Given the description of an element on the screen output the (x, y) to click on. 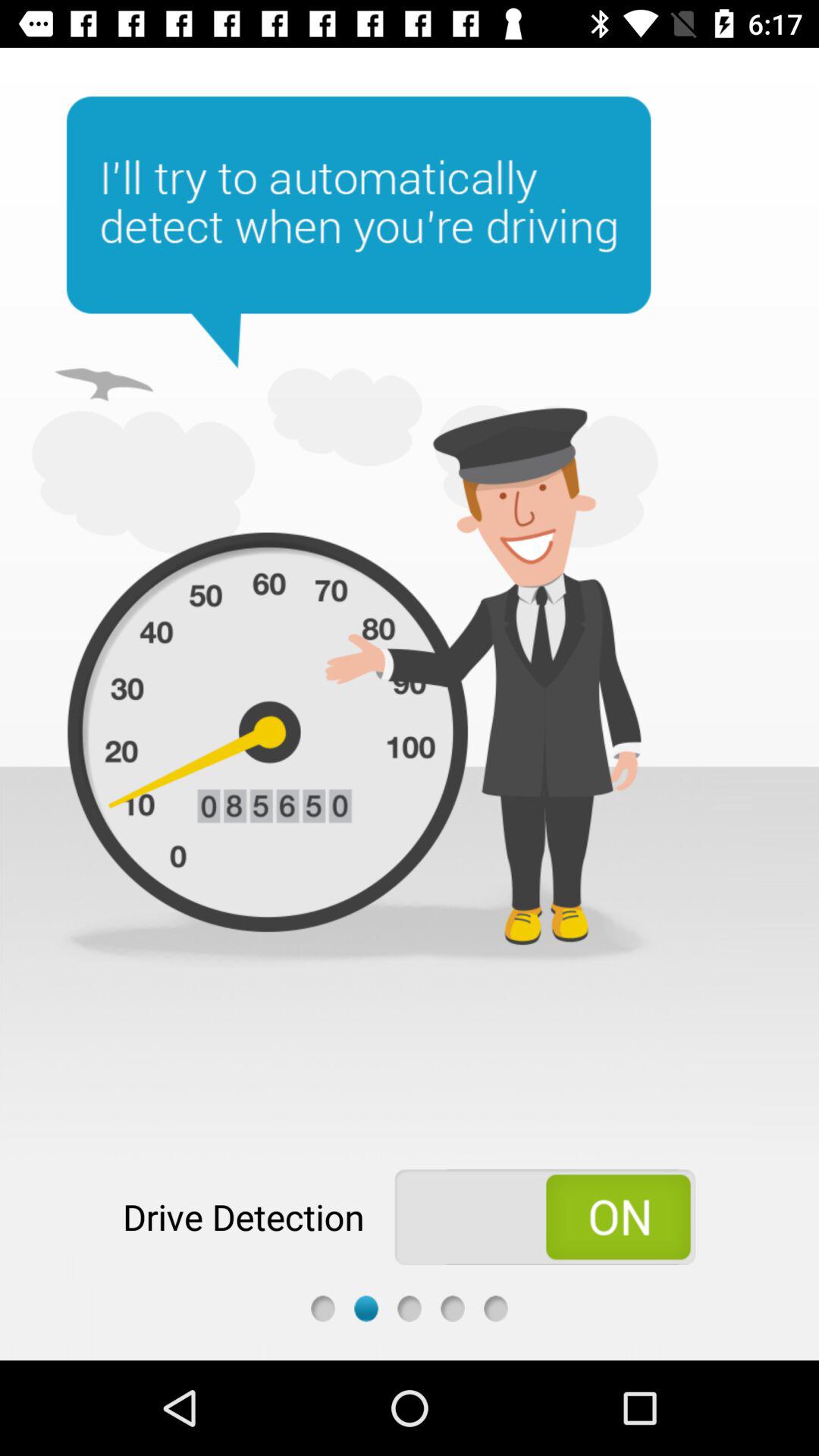
next page (409, 1308)
